Given the description of an element on the screen output the (x, y) to click on. 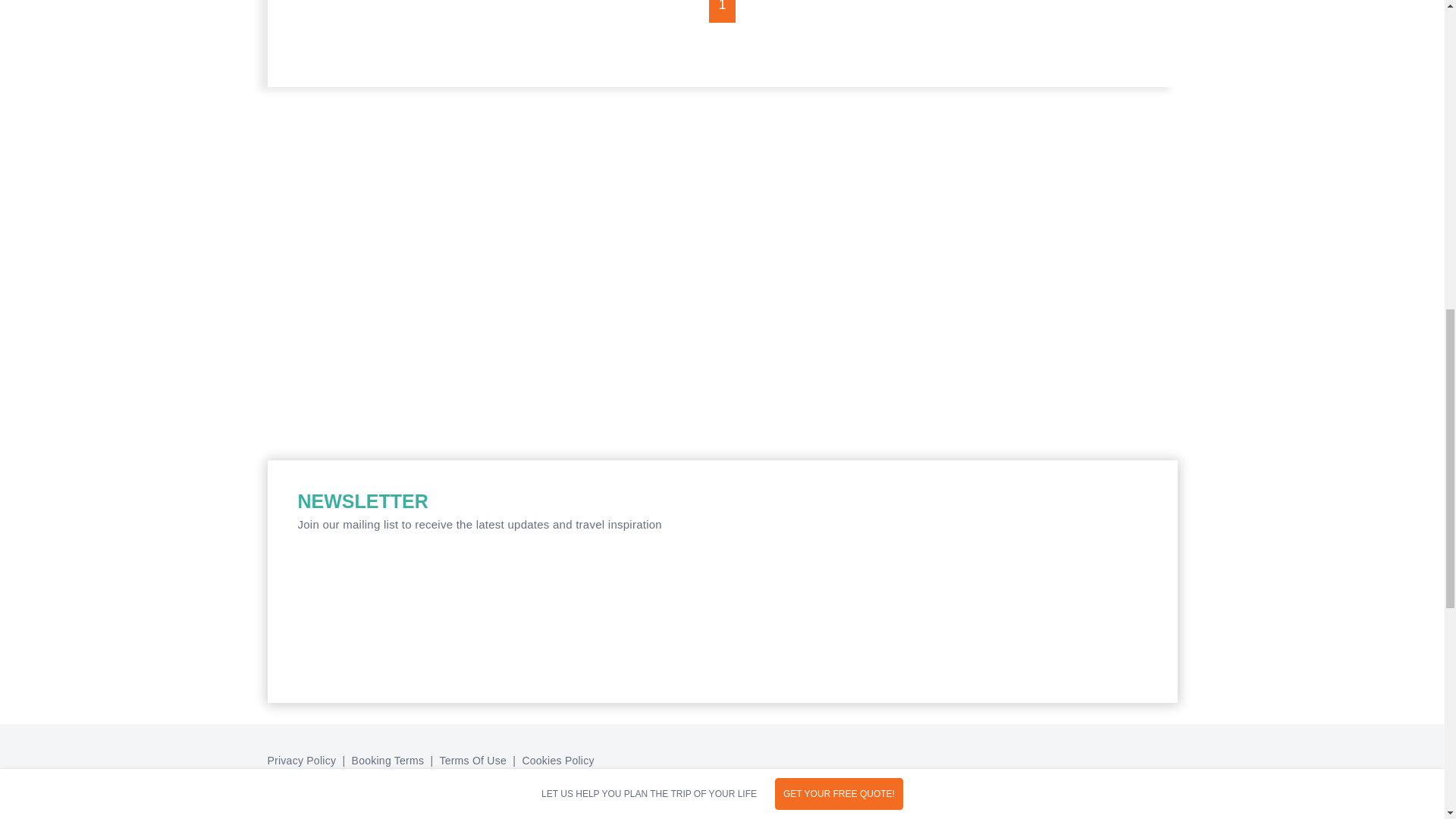
Terms Of Use (471, 760)
1 (722, 11)
Booking Terms (388, 760)
Privacy Policy  (302, 760)
Cookies Policy (557, 760)
